Given the description of an element on the screen output the (x, y) to click on. 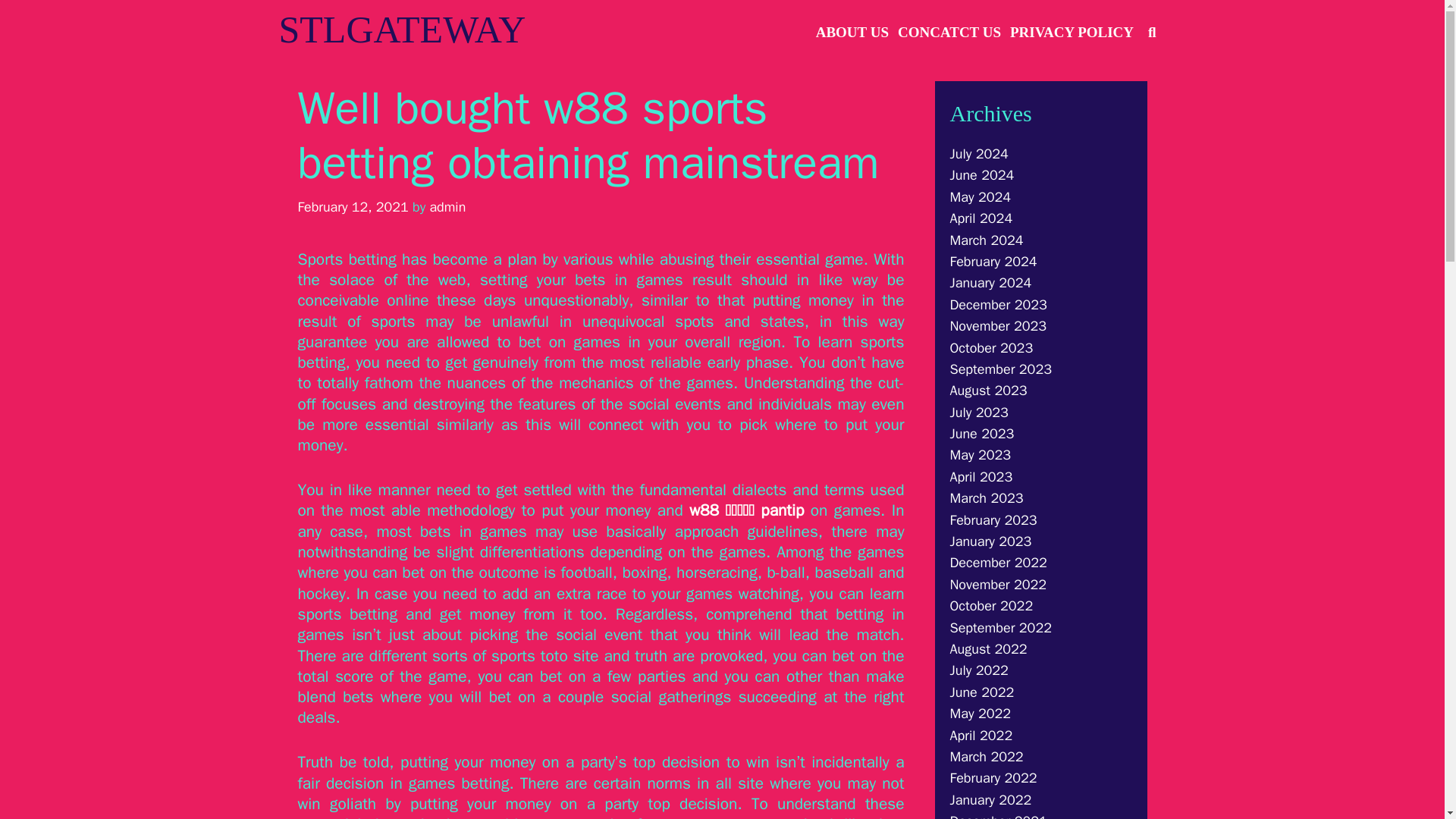
CONCATCT US (949, 31)
June 2024 (981, 175)
SEARCH (1152, 31)
May 2024 (979, 197)
April 2023 (980, 476)
August 2022 (987, 648)
December 2023 (997, 304)
October 2022 (990, 605)
May 2023 (979, 454)
admin (447, 207)
View all posts by admin (447, 207)
January 2024 (989, 282)
April 2024 (980, 217)
February 2023 (992, 519)
January 2023 (989, 541)
